Given the description of an element on the screen output the (x, y) to click on. 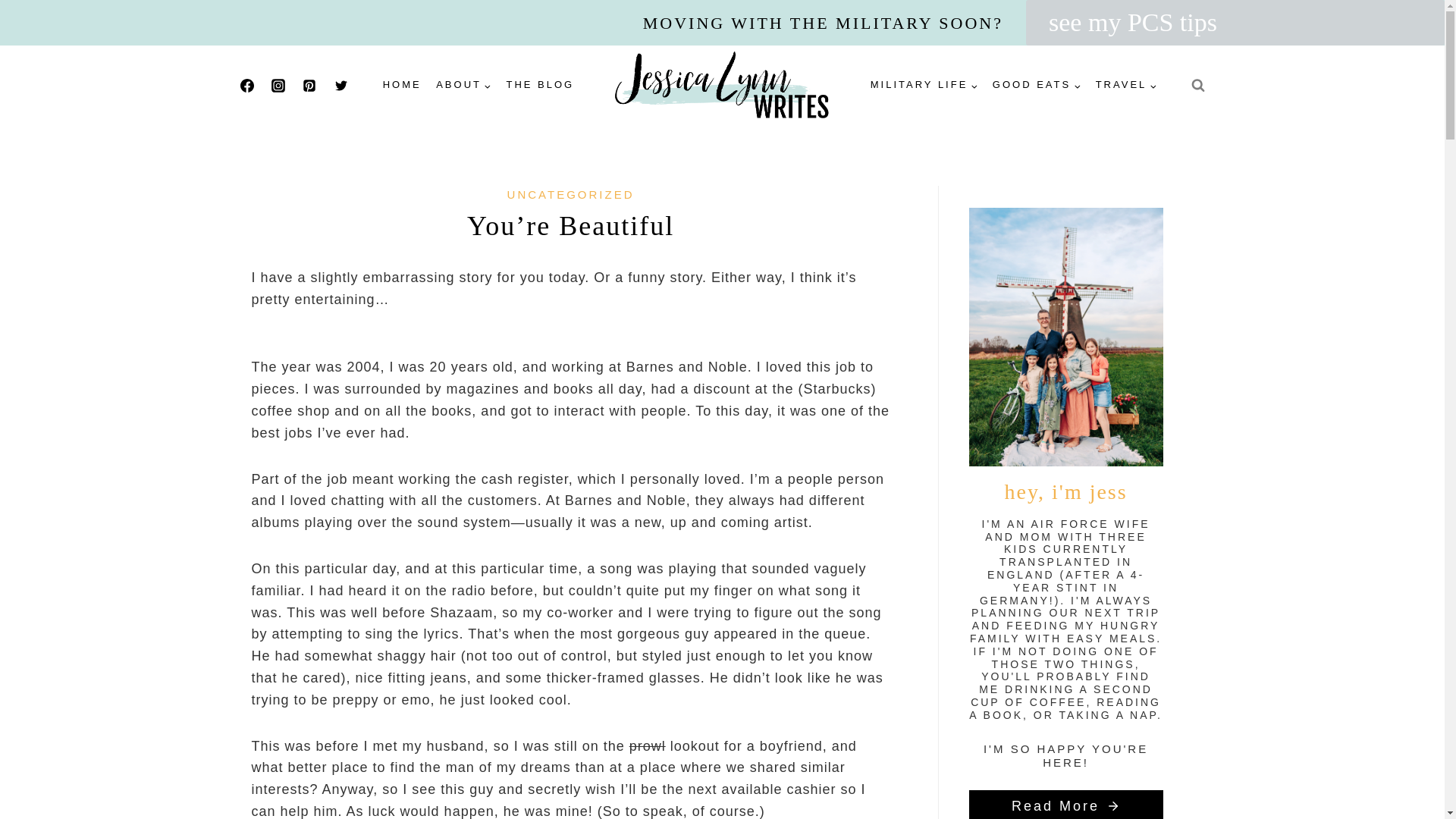
GOOD EATS (1036, 85)
HOME (402, 85)
THE BLOG (539, 85)
ABOUT (462, 85)
UNCATEGORIZED (570, 194)
TRAVEL (1125, 85)
MILITARY LIFE (924, 85)
